Given the description of an element on the screen output the (x, y) to click on. 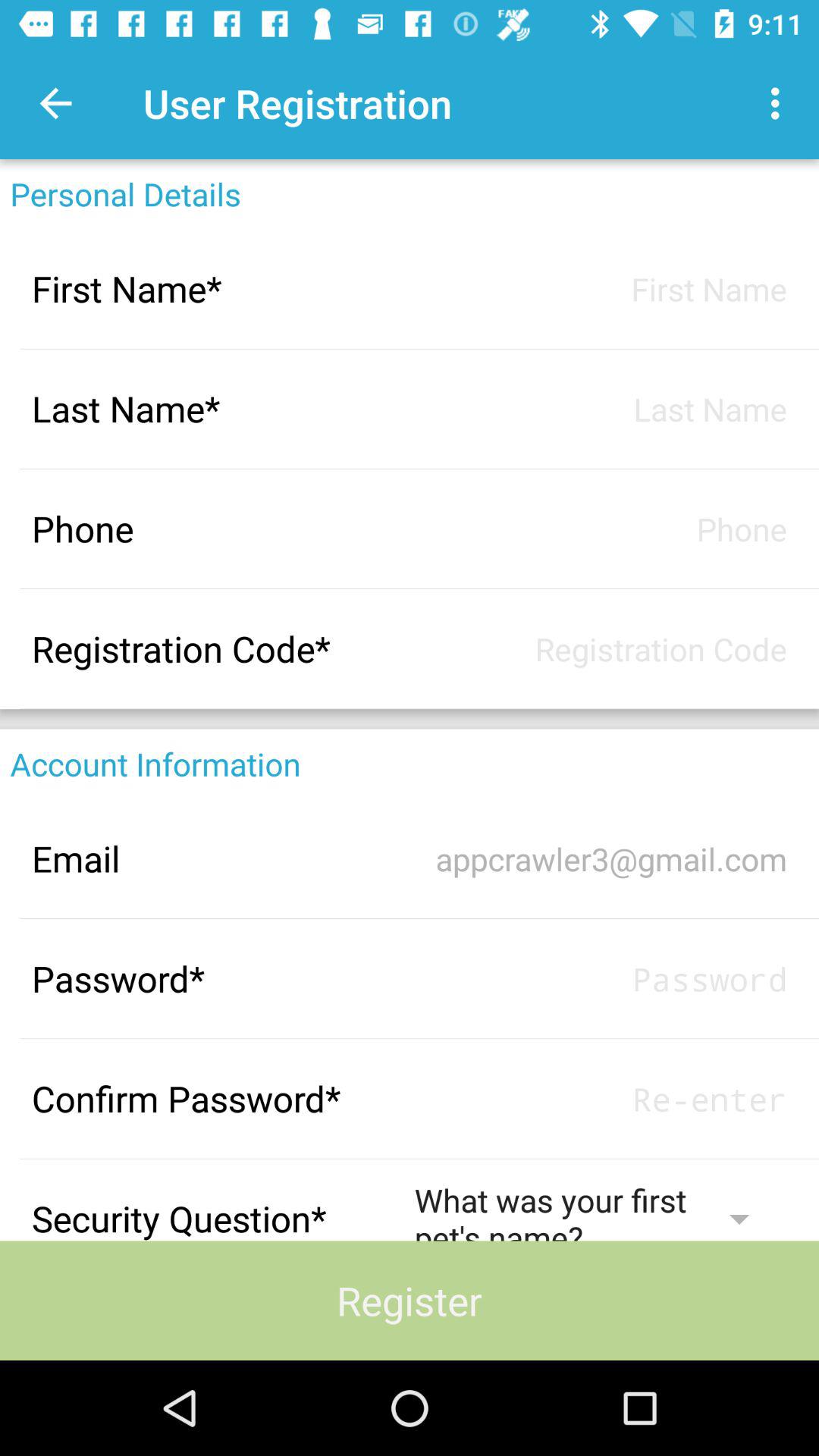
enter last name (600, 408)
